Given the description of an element on the screen output the (x, y) to click on. 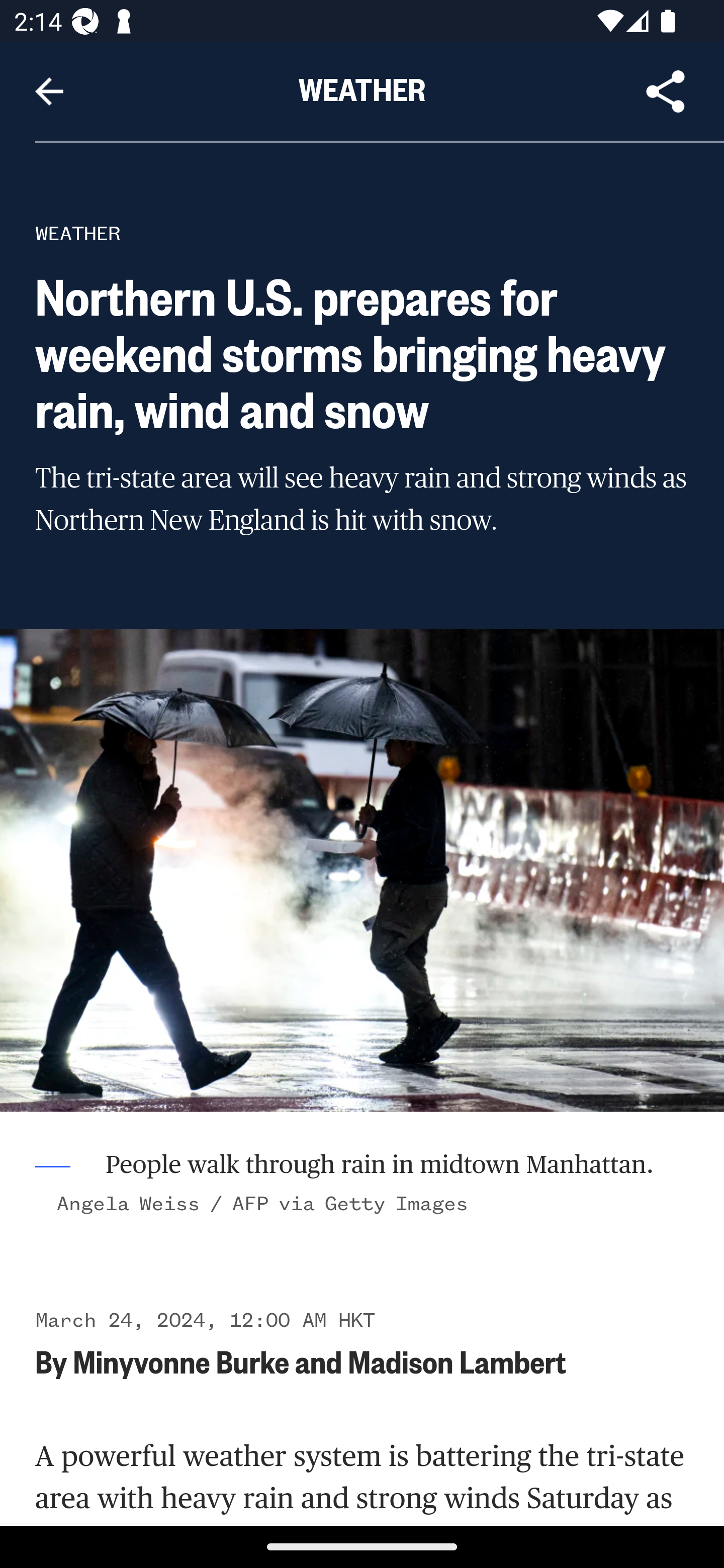
Navigate up (49, 91)
Share Article, button (665, 91)
WEATHER (77, 233)
